Given the description of an element on the screen output the (x, y) to click on. 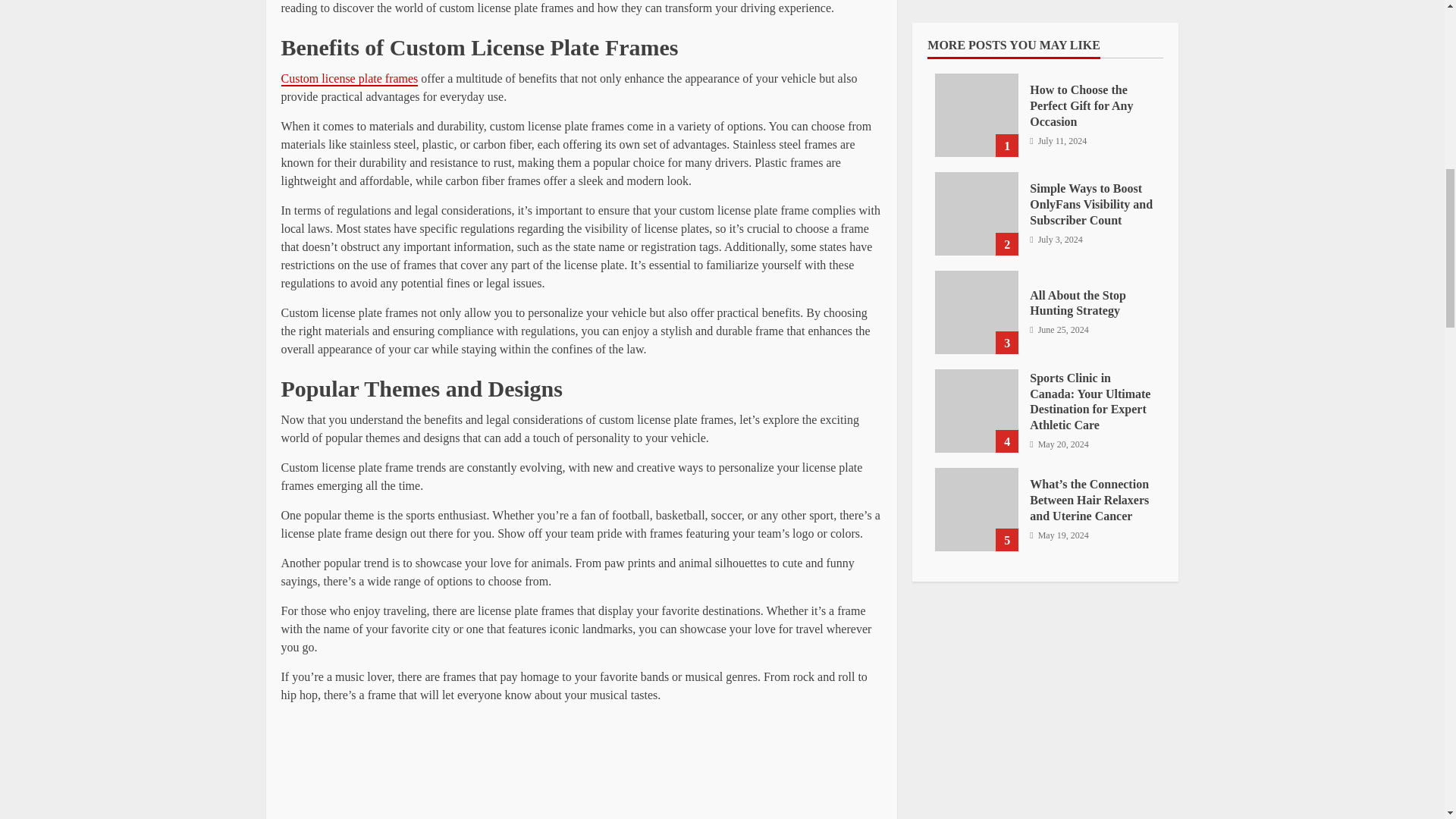
Custom license plate frames (349, 79)
